Given the description of an element on the screen output the (x, y) to click on. 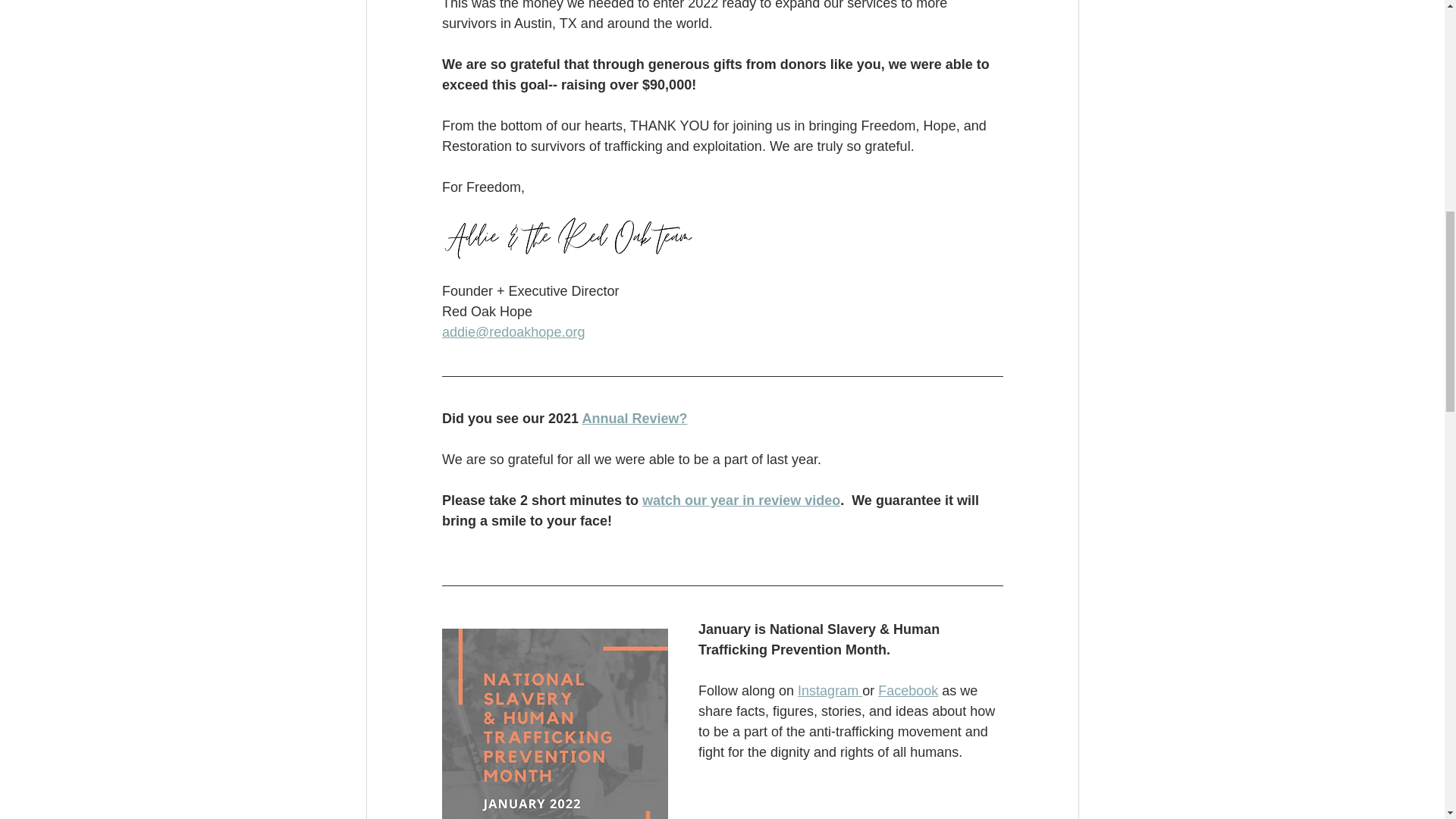
Facebook (907, 690)
Instagram  (829, 690)
watch our year in review video (741, 500)
Annual Review? (633, 418)
